Given the description of an element on the screen output the (x, y) to click on. 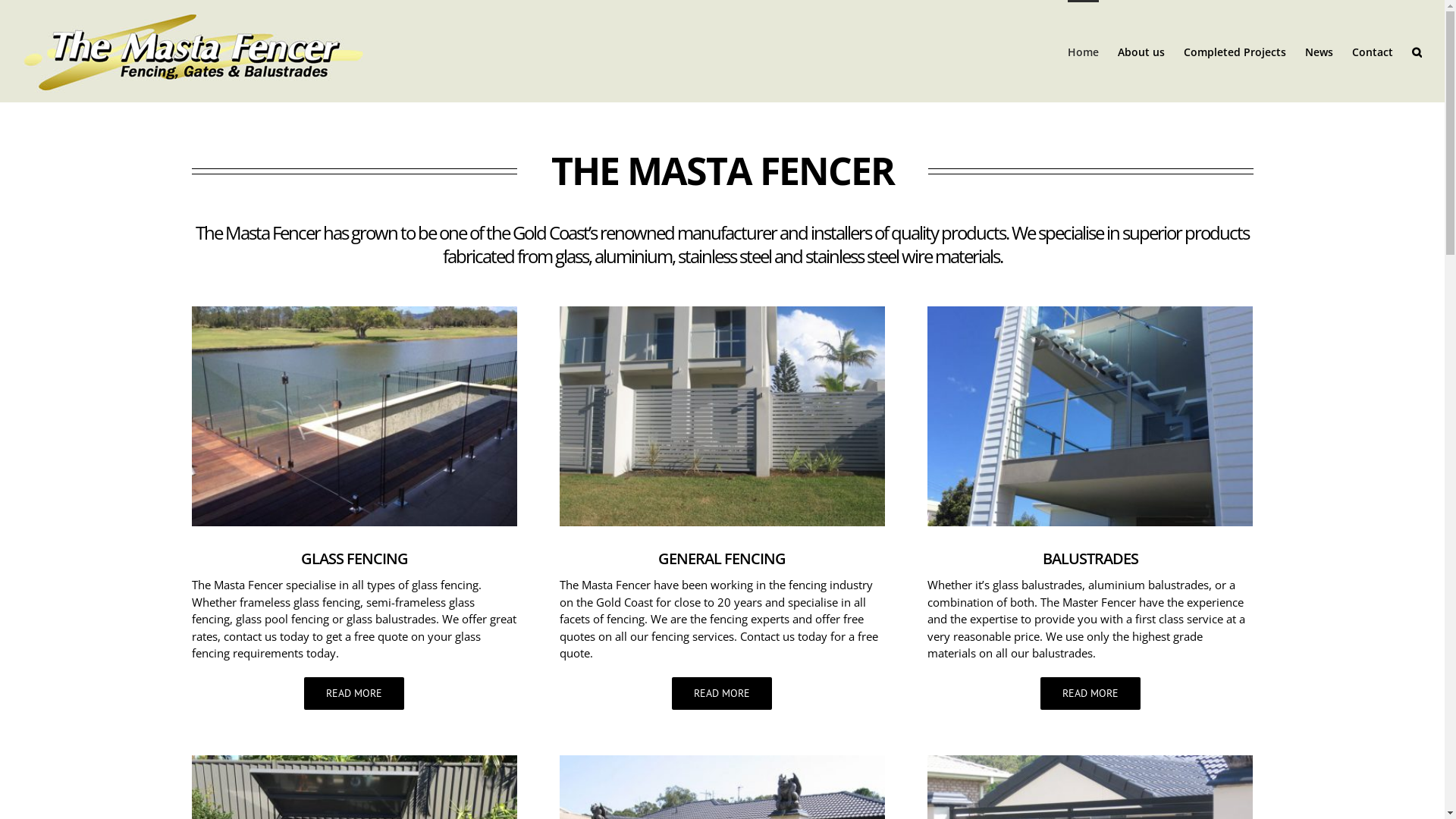
Completed Projects Element type: text (1234, 51)
READ MORE Element type: text (1090, 693)
Contact Element type: text (1372, 51)
READ MORE Element type: text (354, 693)
News Element type: text (1319, 51)
READ MORE Element type: text (721, 693)
About us Element type: text (1140, 51)
Home Element type: text (1082, 51)
